Given the description of an element on the screen output the (x, y) to click on. 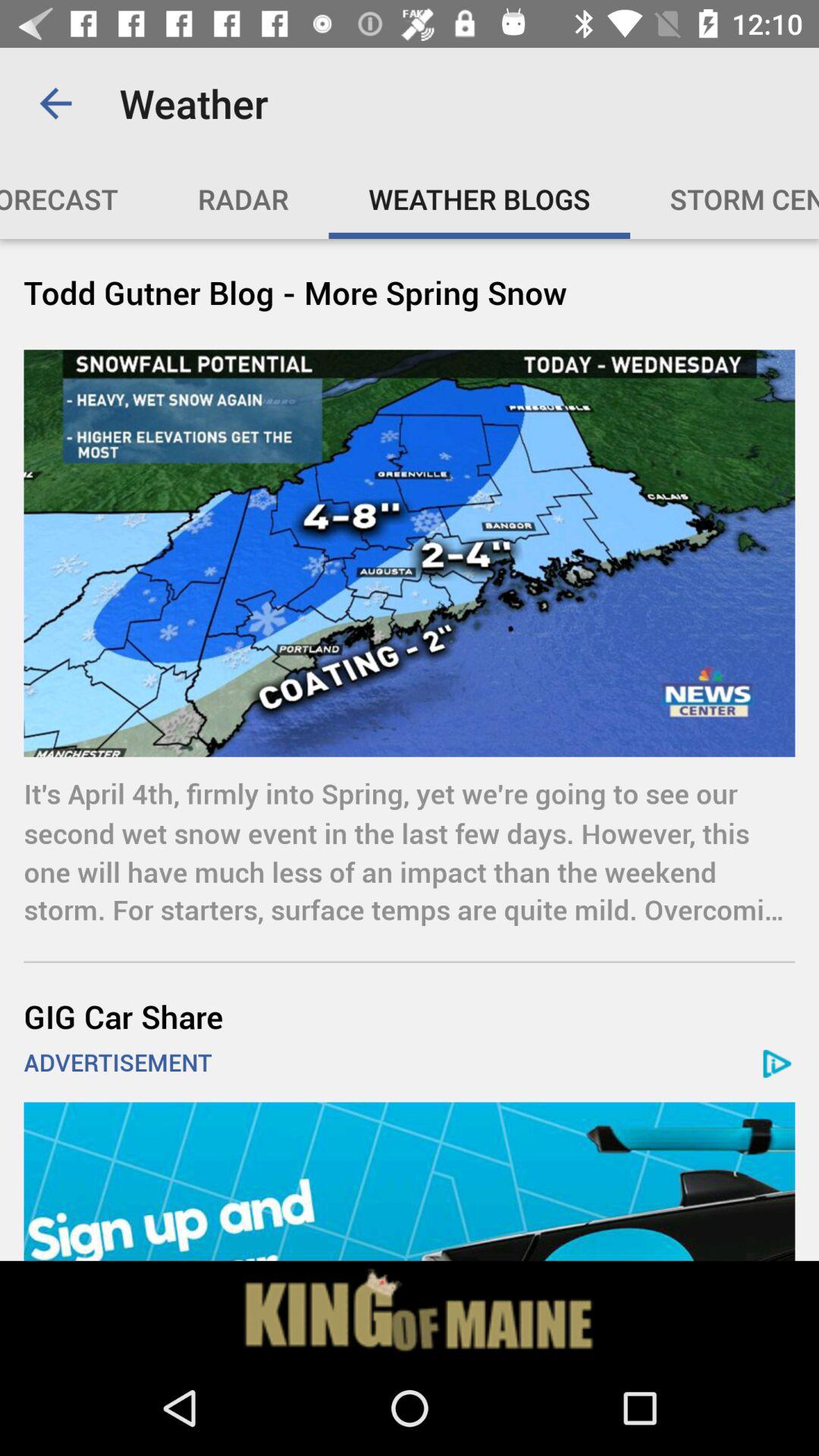
flip to the gig car share item (409, 1015)
